Given the description of an element on the screen output the (x, y) to click on. 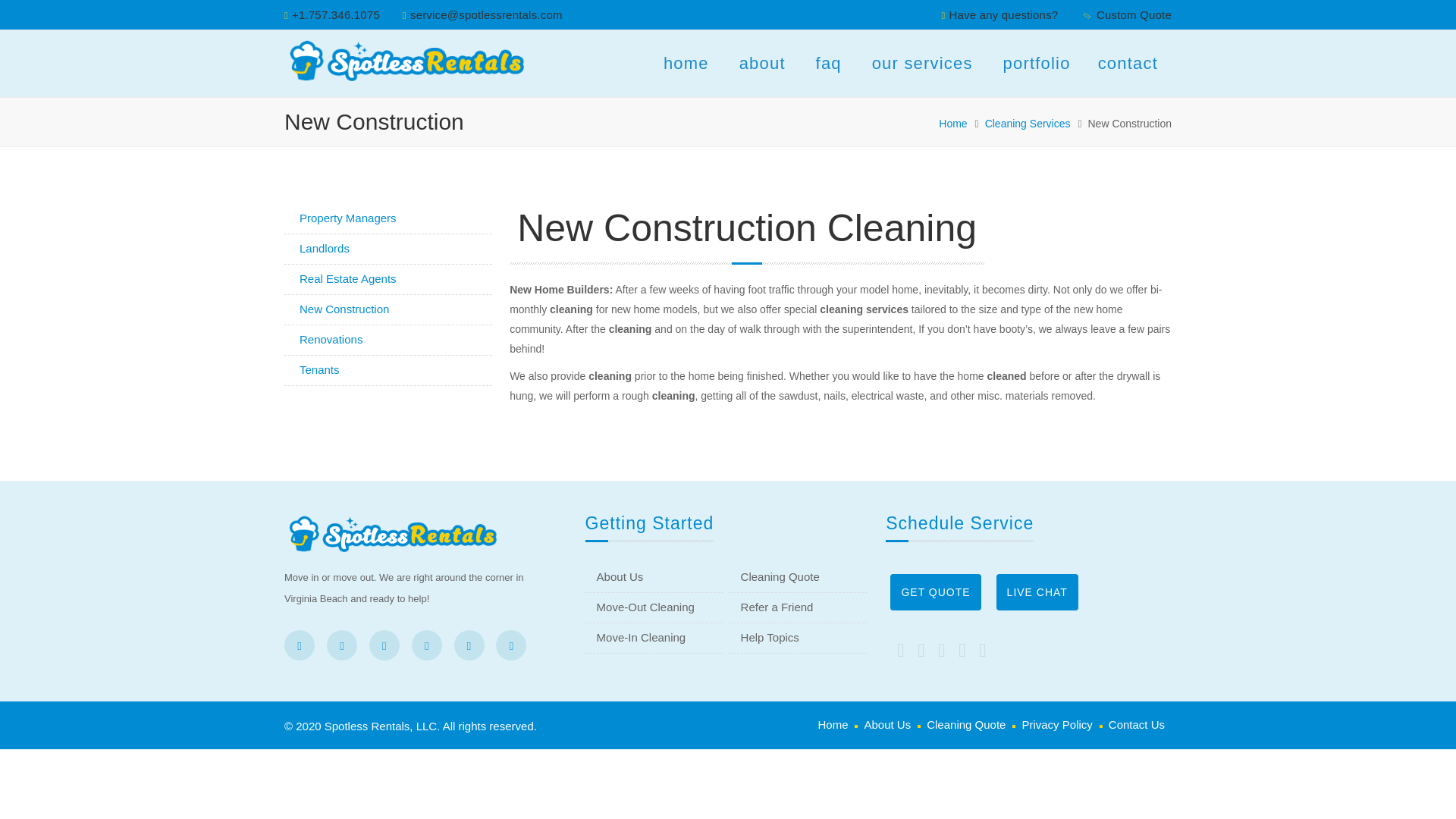
youtube (510, 644)
facebook (298, 644)
houzz (427, 644)
Custom Quote (1134, 14)
about (762, 63)
have any questions? (1003, 14)
twitter (341, 644)
yelp (383, 644)
our services (923, 63)
Spotless Rentals (403, 60)
